Given the description of an element on the screen output the (x, y) to click on. 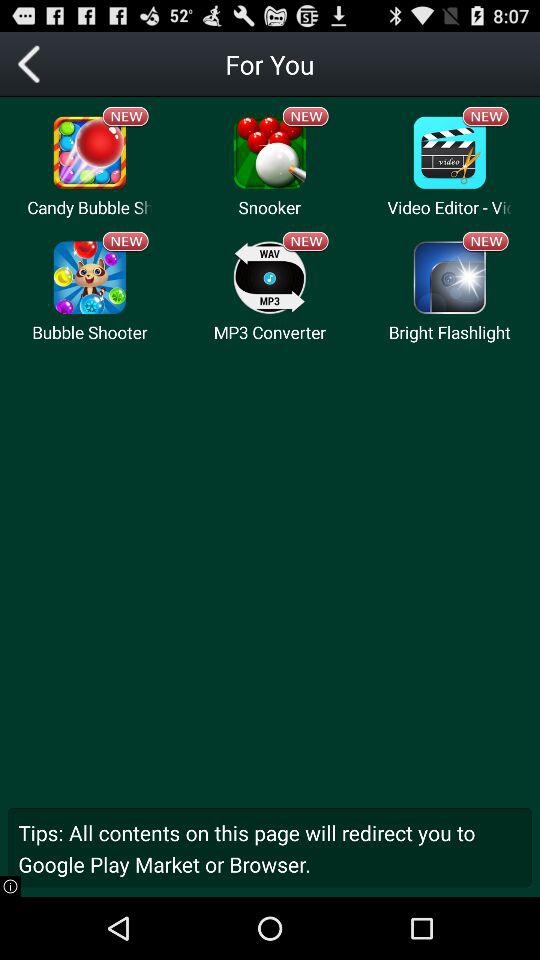
go back (32, 64)
